Given the description of an element on the screen output the (x, y) to click on. 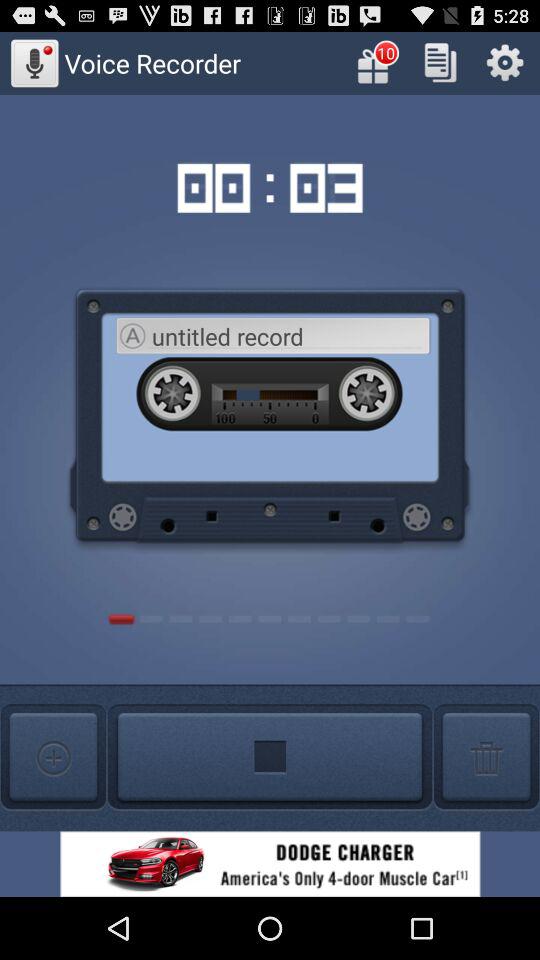
adverdesment (270, 864)
